Given the description of an element on the screen output the (x, y) to click on. 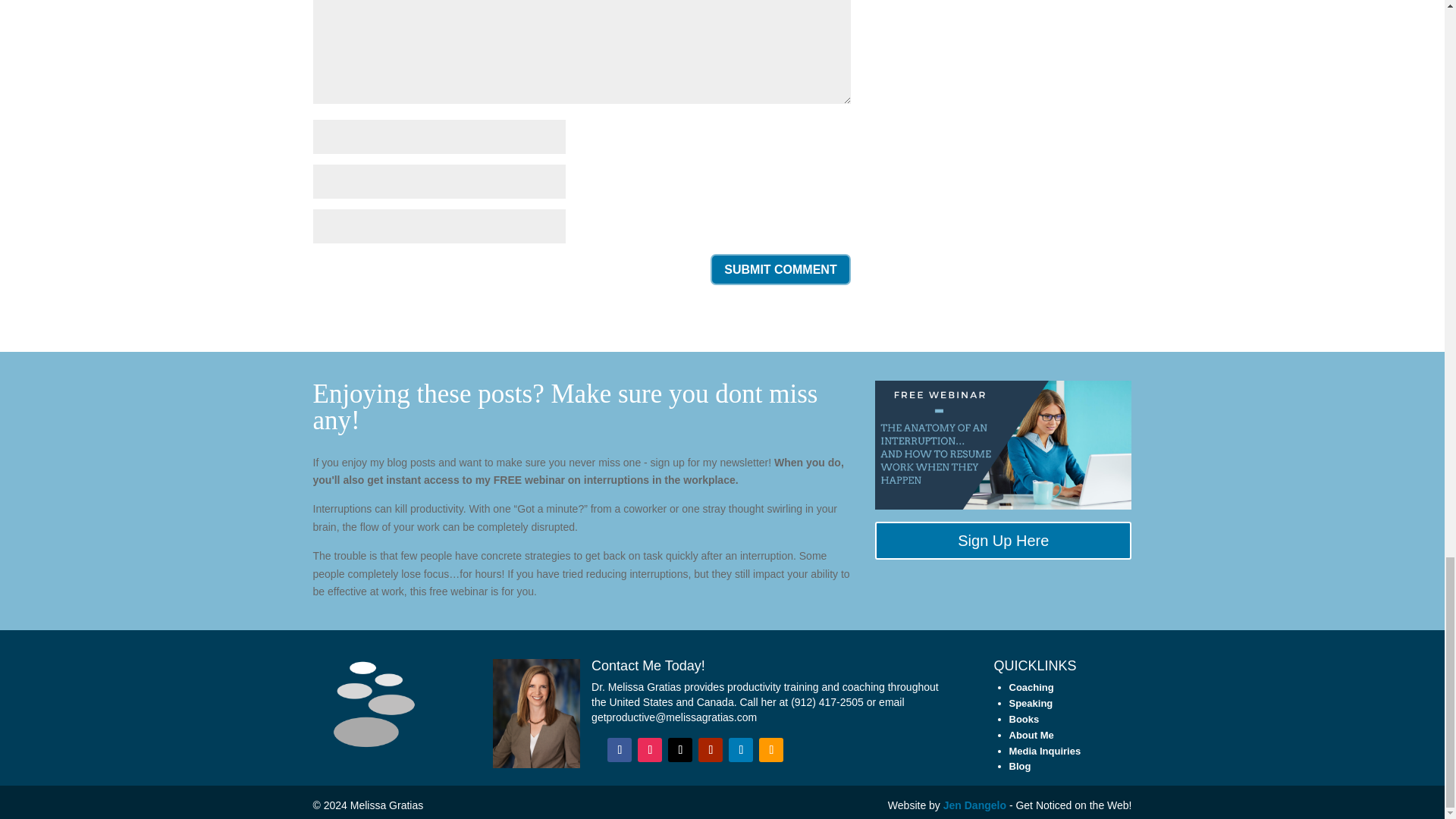
Follow on Amazon (770, 749)
Follow on Facebook (619, 749)
Follow on Instagram (649, 749)
Follow on Youtube (710, 749)
Follow on X (680, 749)
Follow on LinkedIn (740, 749)
